Given the description of an element on the screen output the (x, y) to click on. 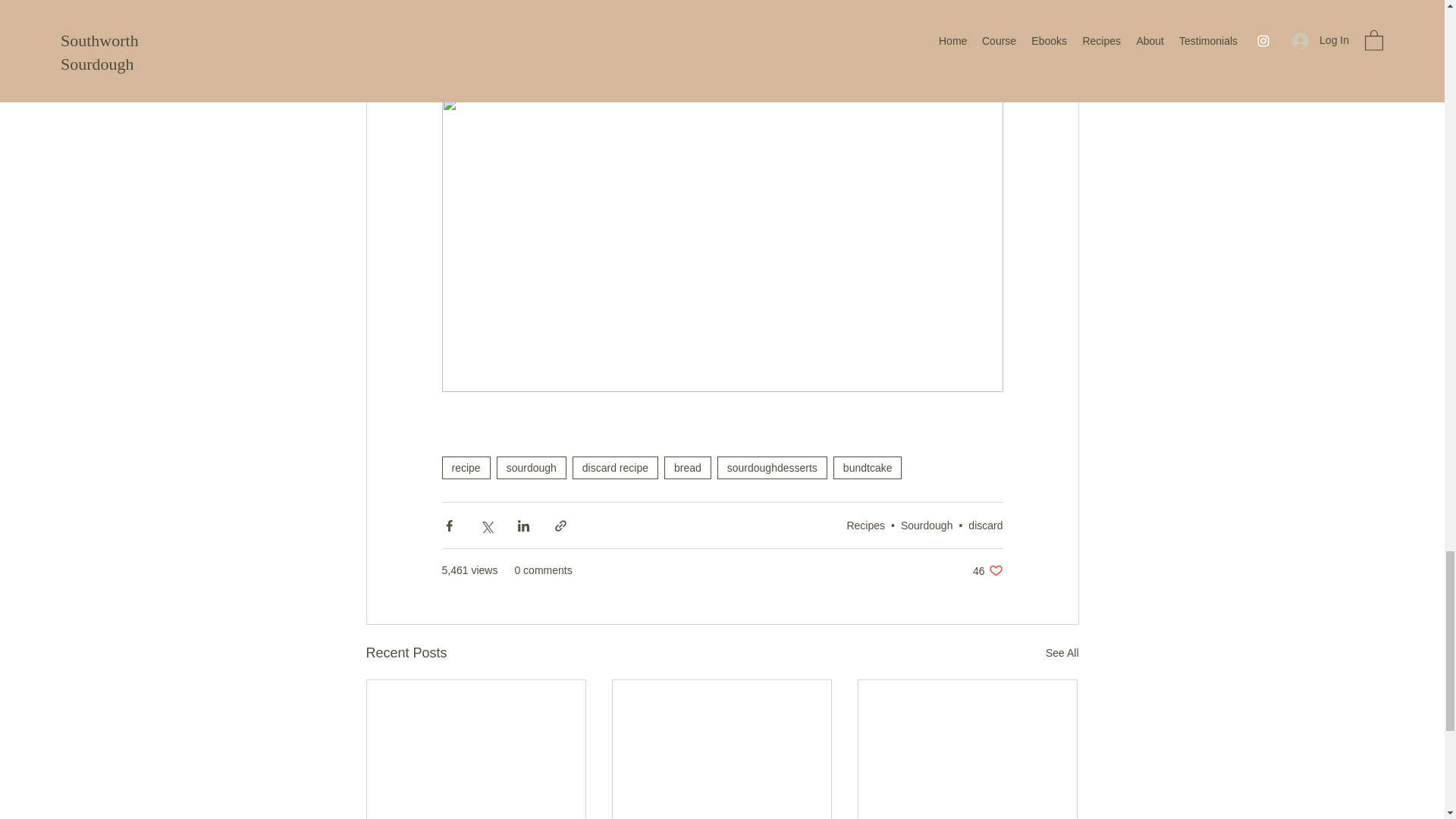
Sourdough (927, 525)
bread (687, 467)
bundtcake (867, 467)
discard recipe (615, 467)
sourdoughdesserts (772, 467)
See All (987, 570)
Recipes (1061, 653)
discard (865, 525)
recipe (985, 525)
sourdough (465, 467)
